Given the description of an element on the screen output the (x, y) to click on. 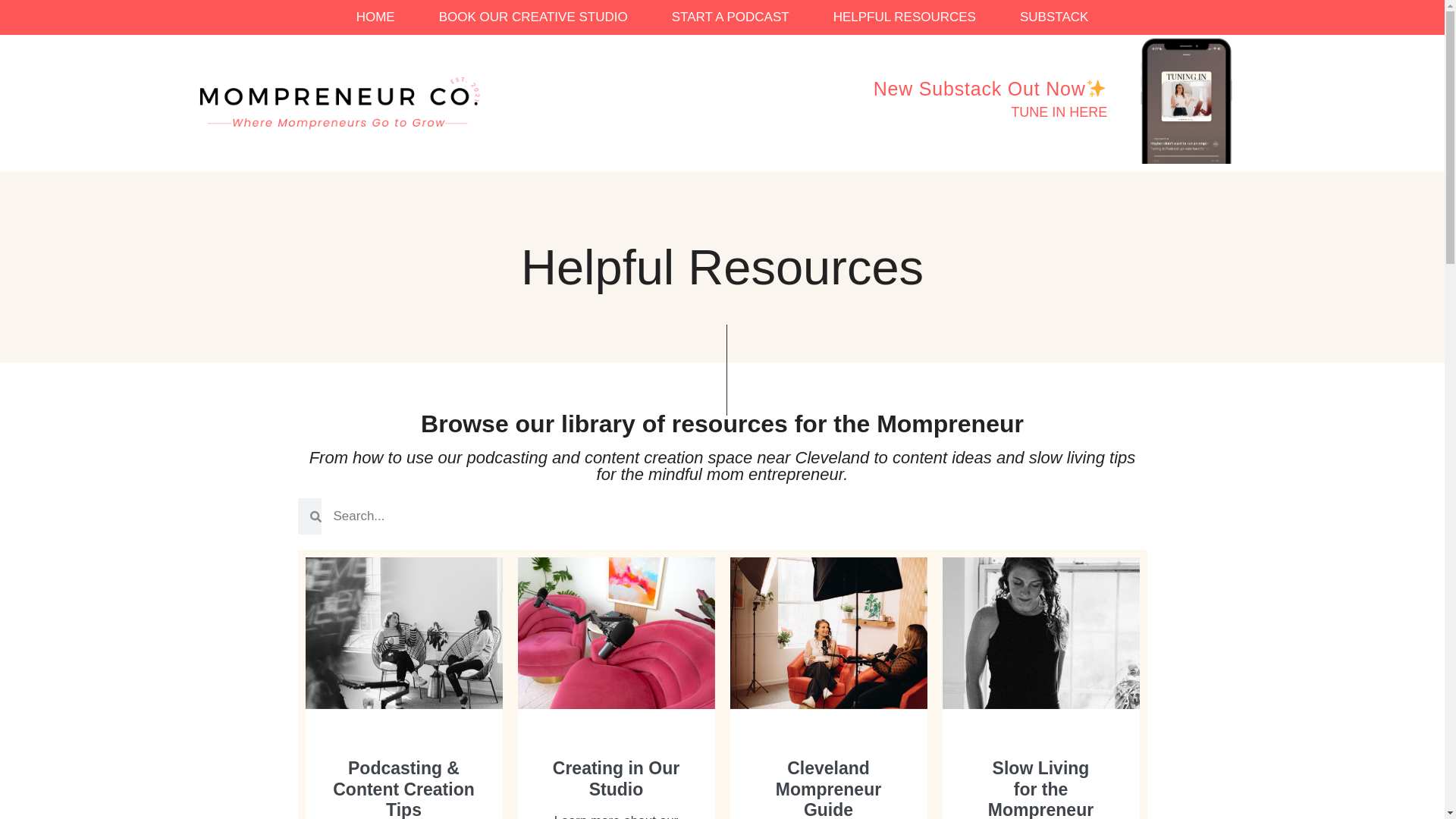
New Substack Out Now (990, 88)
TUNE IN HERE (1058, 111)
HELPFUL RESOURCES (903, 17)
SUBSTACK (1053, 17)
HOME (375, 17)
START A PODCAST (729, 17)
Mompreneur Co. Studio Cleveland Content Studio (337, 102)
BOOK OUR CREATIVE STUDIO (532, 17)
